Given the description of an element on the screen output the (x, y) to click on. 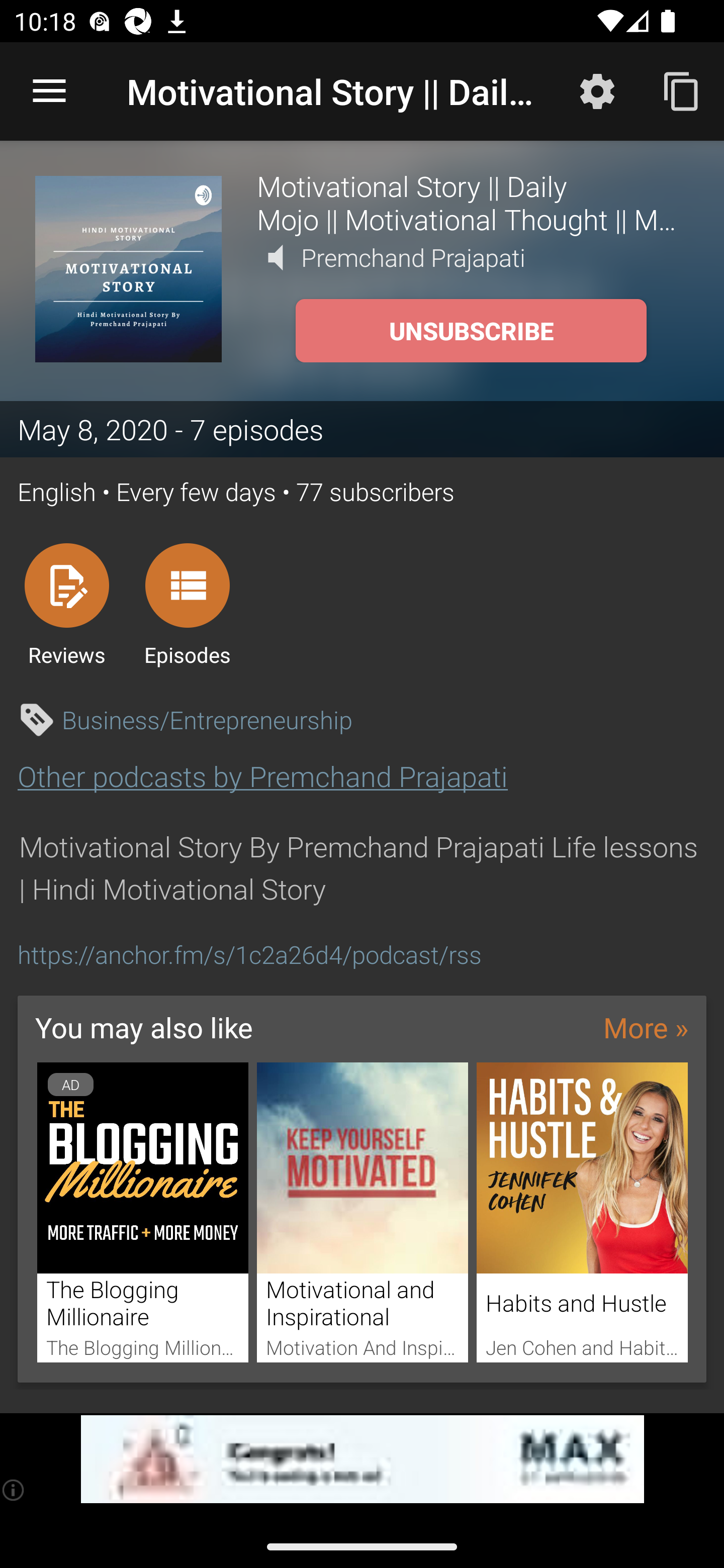
Open navigation sidebar (49, 91)
Settings (597, 90)
Copy feed url to clipboard (681, 90)
UNSUBSCRIBE (470, 330)
Reviews (66, 604)
Episodes (187, 604)
Other podcasts by Premchand Prajapati (262, 775)
More » (645, 1026)
Habits and Hustle Jen Cohen and Habit Nest (581, 1212)
app-monetization (362, 1459)
(i) (14, 1489)
